Given the description of an element on the screen output the (x, y) to click on. 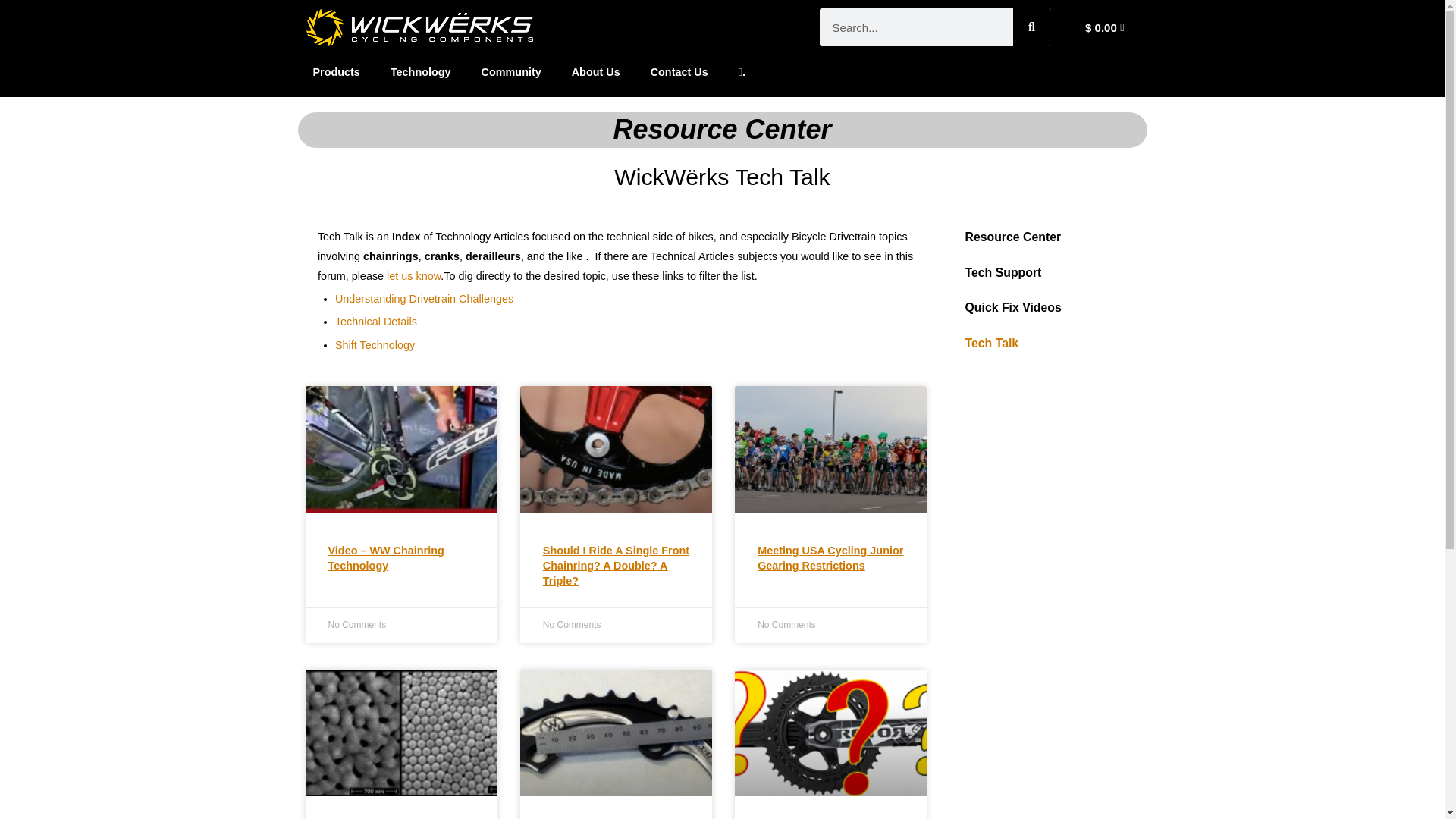
Contact Us (678, 71)
. (741, 71)
Technology (420, 71)
Contact Us (414, 275)
Community (510, 71)
About Us (595, 71)
Products (335, 71)
